Given the description of an element on the screen output the (x, y) to click on. 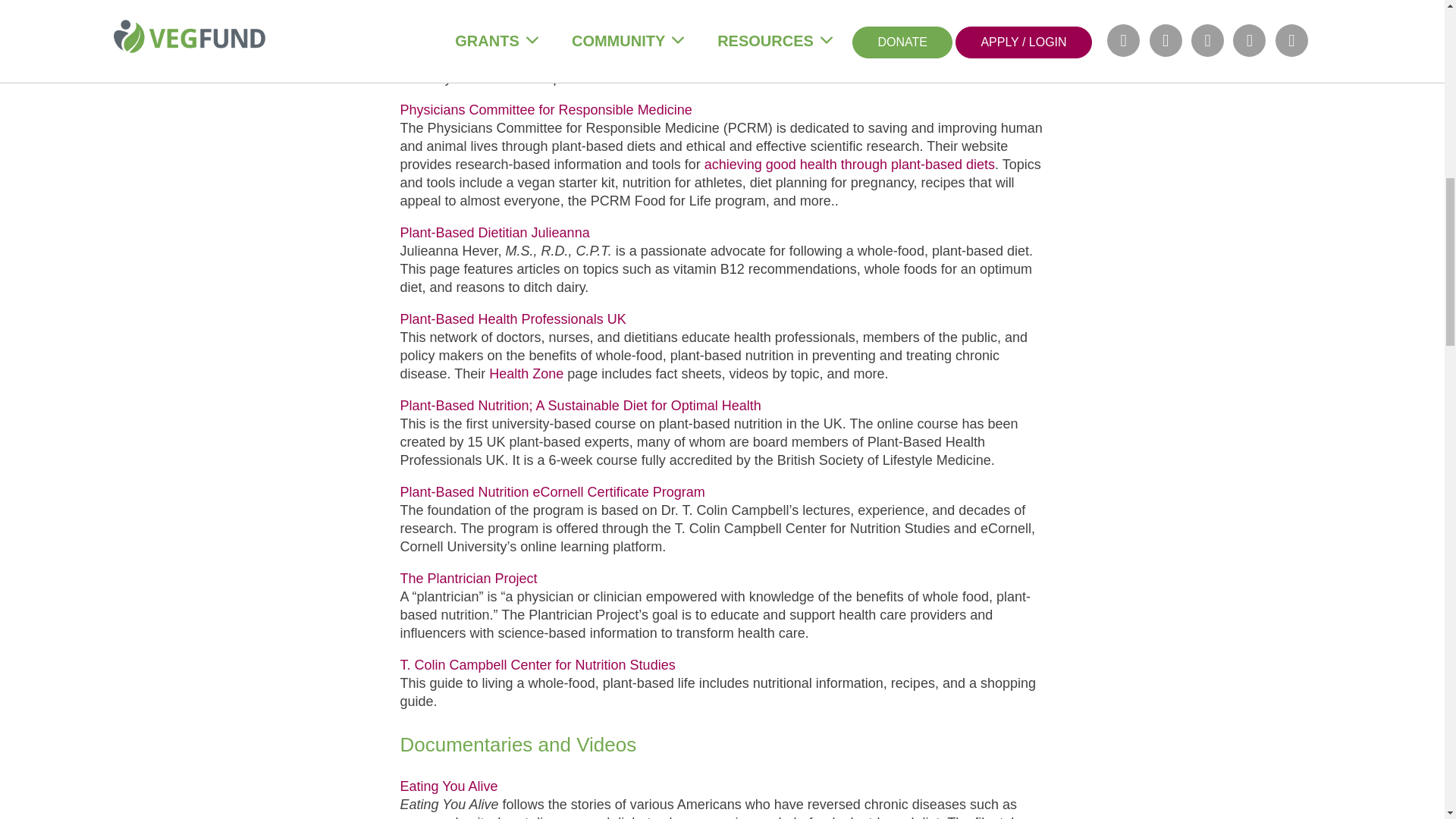
Plant-Based Dietitian Julieanna (494, 232)
Physicians Committee for Responsible Medicine (546, 109)
achieving good health through plant-based diets (849, 164)
